Given the description of an element on the screen output the (x, y) to click on. 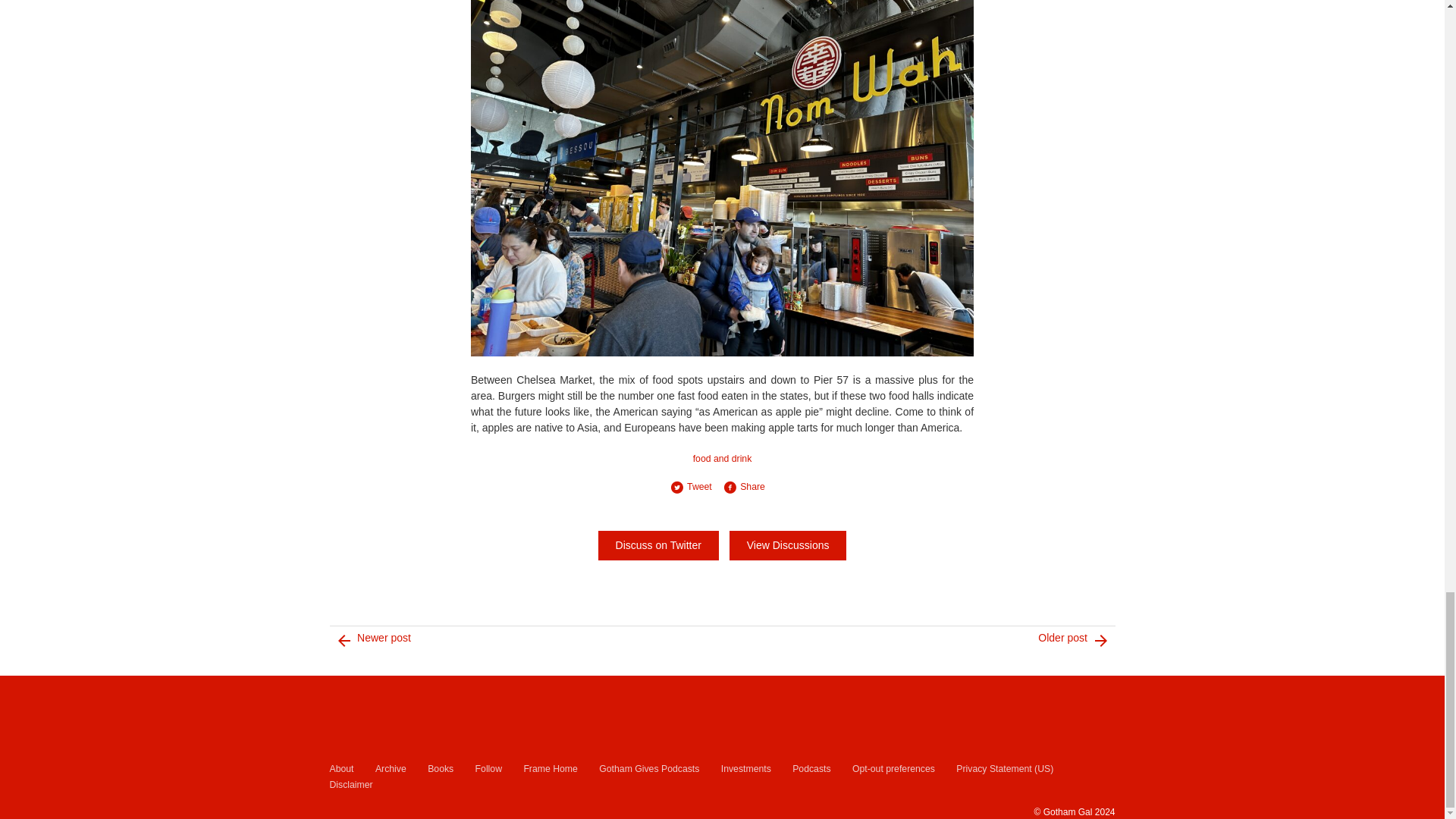
Disclaimer (350, 784)
About (341, 768)
About (341, 768)
Discuss on Twitter (658, 545)
Tweet (696, 486)
Share (748, 486)
Podcasts (810, 768)
Frame Home (549, 768)
Follow (489, 768)
Gotham Gives Podcasts (648, 768)
Archive (390, 768)
Frame Home (549, 768)
Gotham Gives Podcasts (648, 768)
Books (440, 768)
Discuss on Twitter (658, 545)
